Given the description of an element on the screen output the (x, y) to click on. 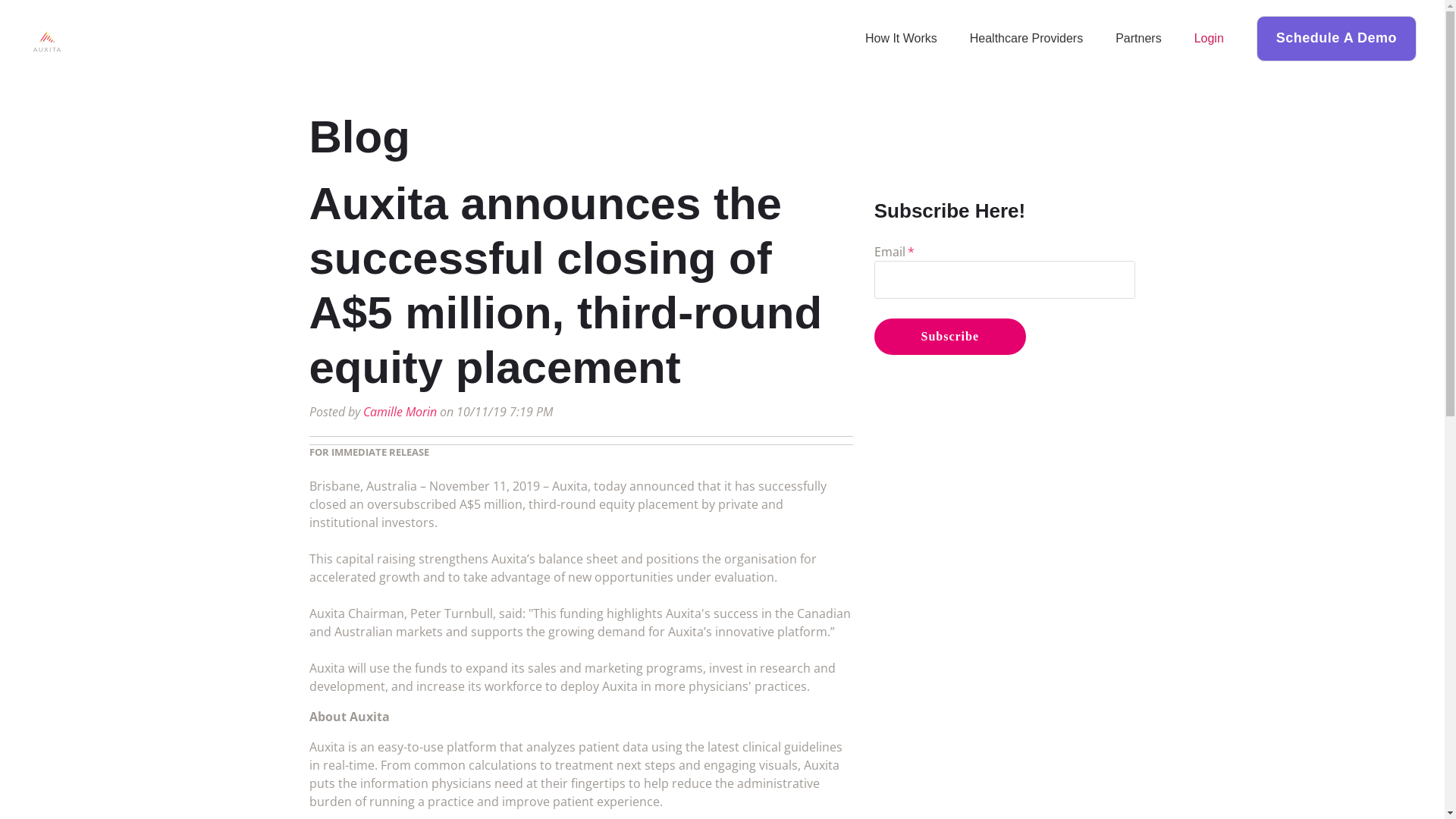
Schedule A Demo Element type: text (1336, 37)
Partners Element type: text (1138, 38)
Auxita Element type: hover (46, 41)
Camille Morin Element type: text (399, 411)
How It Works Element type: text (901, 38)
Submit Element type: text (802, 538)
Login Element type: text (1208, 38)
Subscribe Element type: text (950, 336)
Healthcare Providers Element type: text (1025, 38)
